Given the description of an element on the screen output the (x, y) to click on. 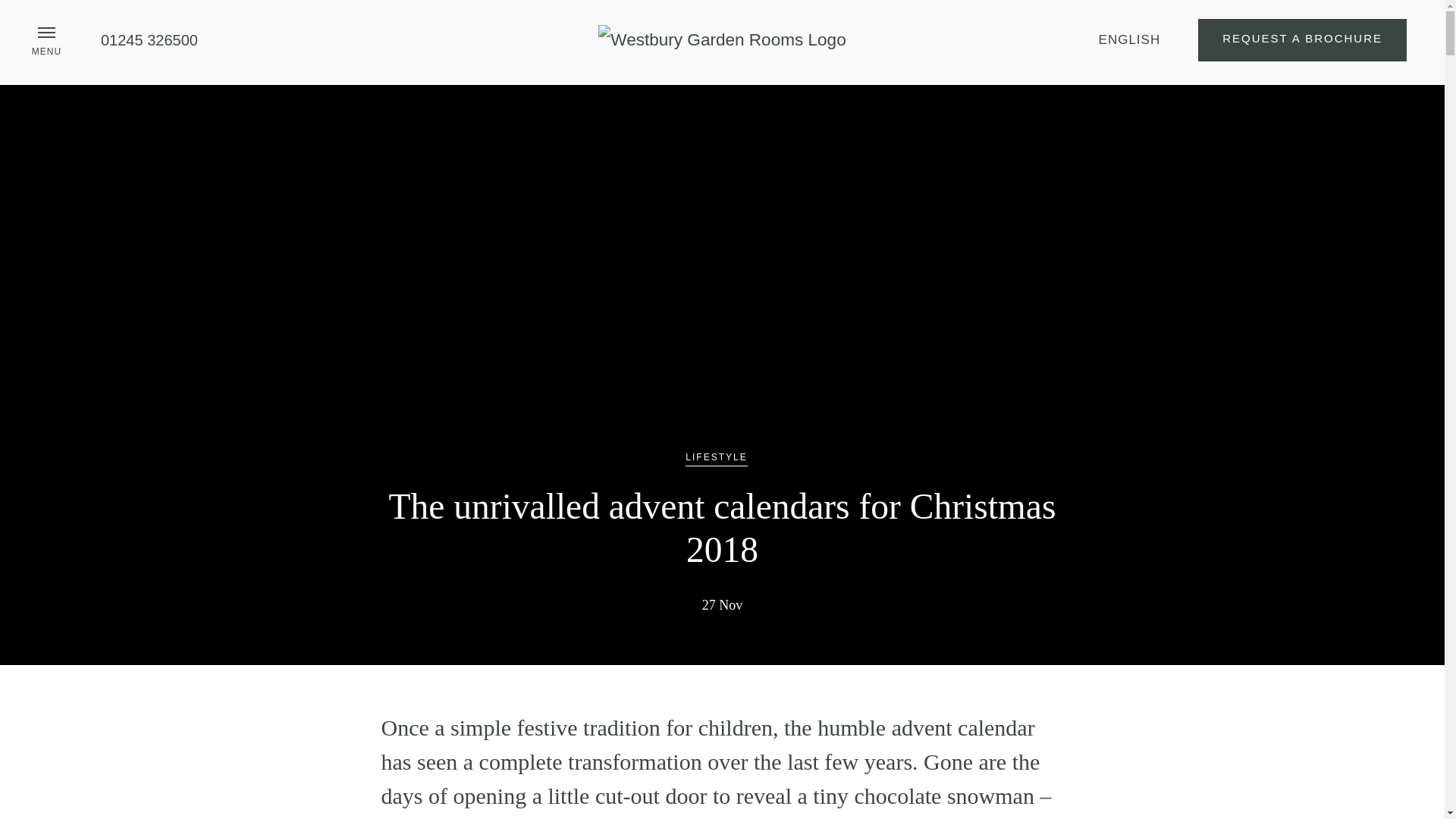
Request a Brochure (1302, 39)
01245 326500 (149, 39)
Call Westbury Garden Rooms (149, 39)
MENU (46, 33)
REQUEST A BROCHURE (1302, 39)
ENGLISH (1129, 40)
